Given the description of an element on the screen output the (x, y) to click on. 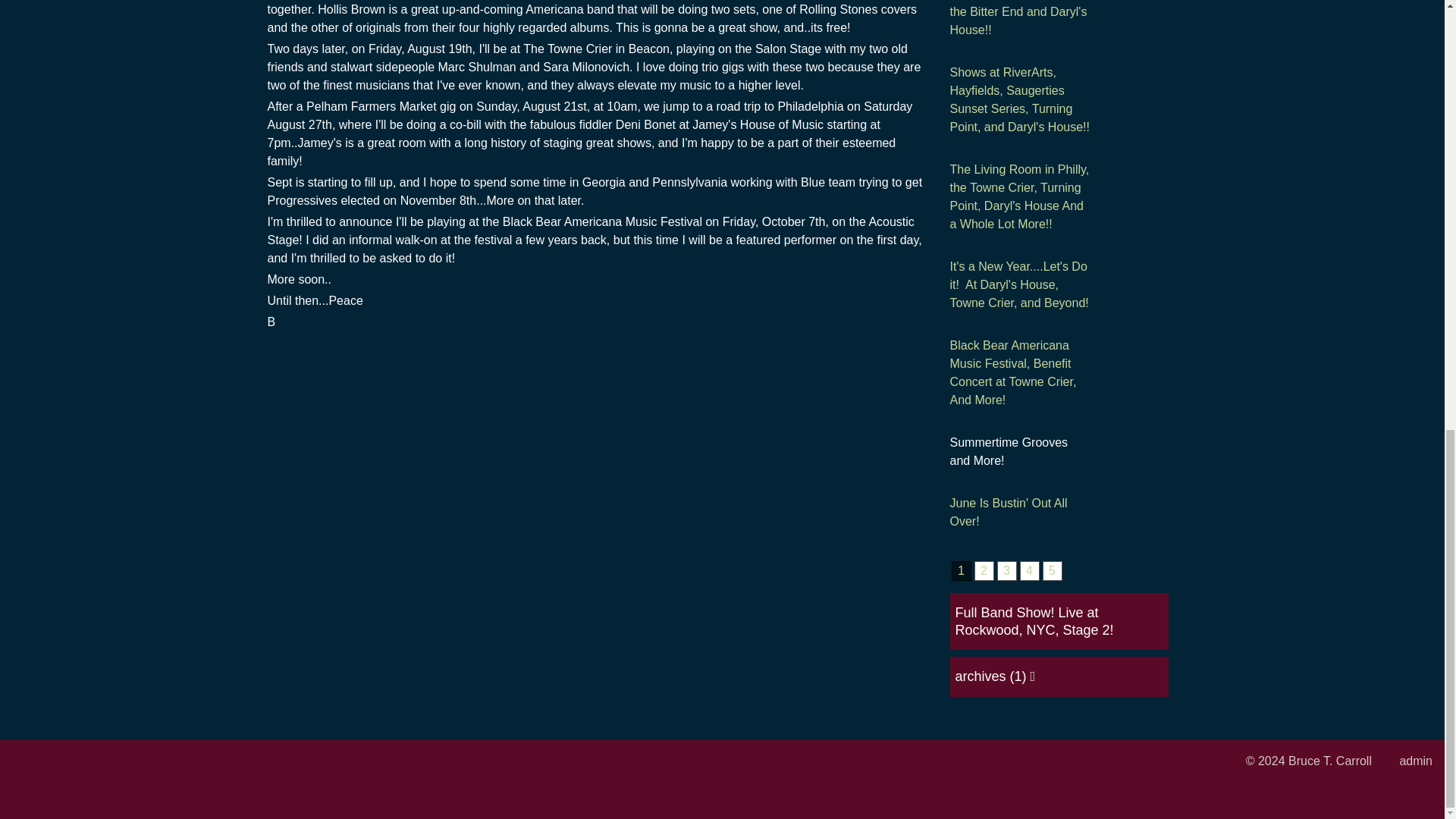
June Is Bustin' Out All Over! (1019, 512)
Full Band Show! Live at Rockwood, NYC, Stage 2! (1034, 621)
Summertime Grooves and More! (1019, 452)
New Full Band Show at the Bitter End and Daryl's House!! (1019, 19)
5 (1051, 570)
admin (1415, 759)
